Given the description of an element on the screen output the (x, y) to click on. 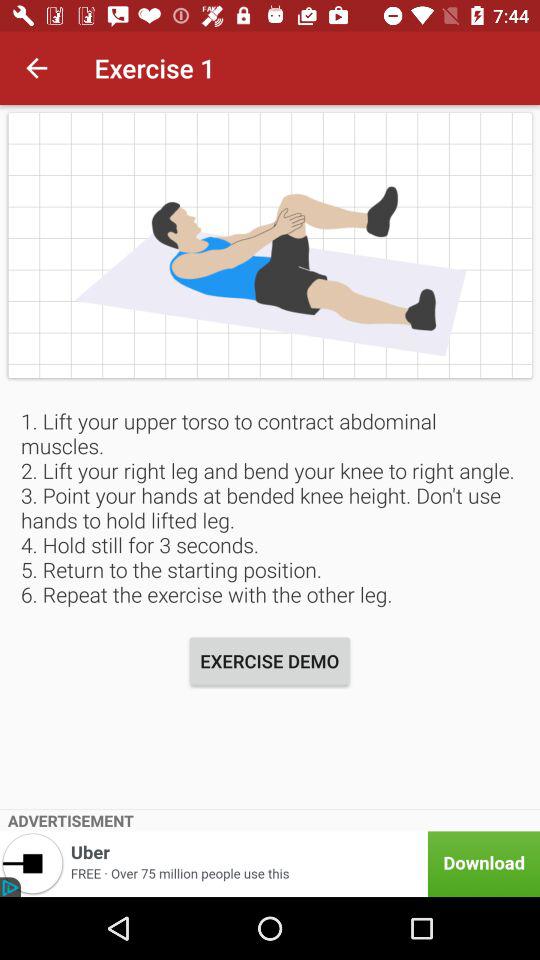
select the exercise demo icon (269, 660)
